Given the description of an element on the screen output the (x, y) to click on. 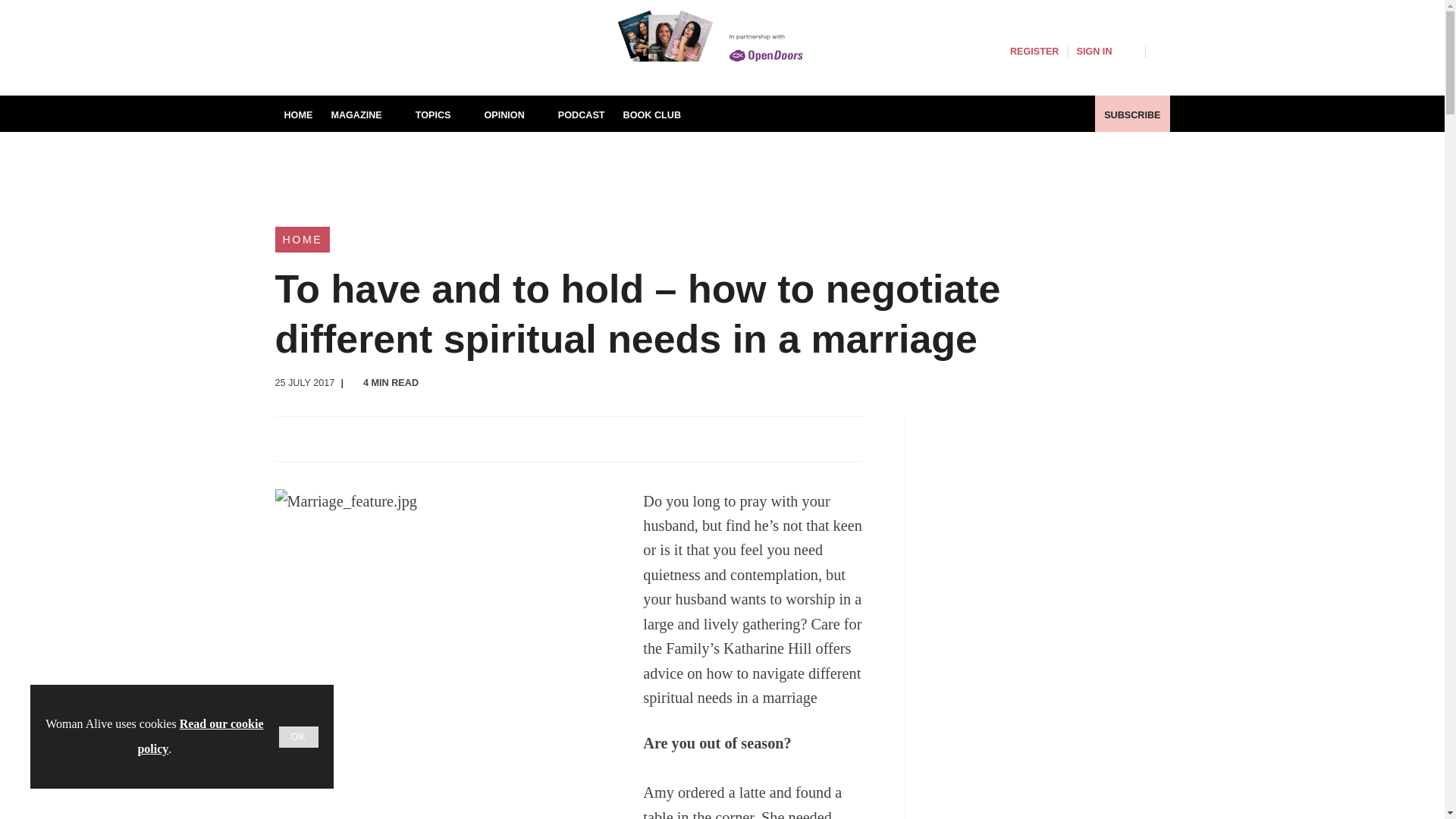
Share this on Twitter (320, 438)
Site name (418, 66)
SEARCH (1161, 50)
SIGN IN (1106, 51)
Email this article (386, 438)
Read our cookie policy (199, 735)
REGISTER (1034, 51)
OK (298, 736)
Share this on Linked in (352, 438)
Share this on Facebook (288, 438)
